Given the description of an element on the screen output the (x, y) to click on. 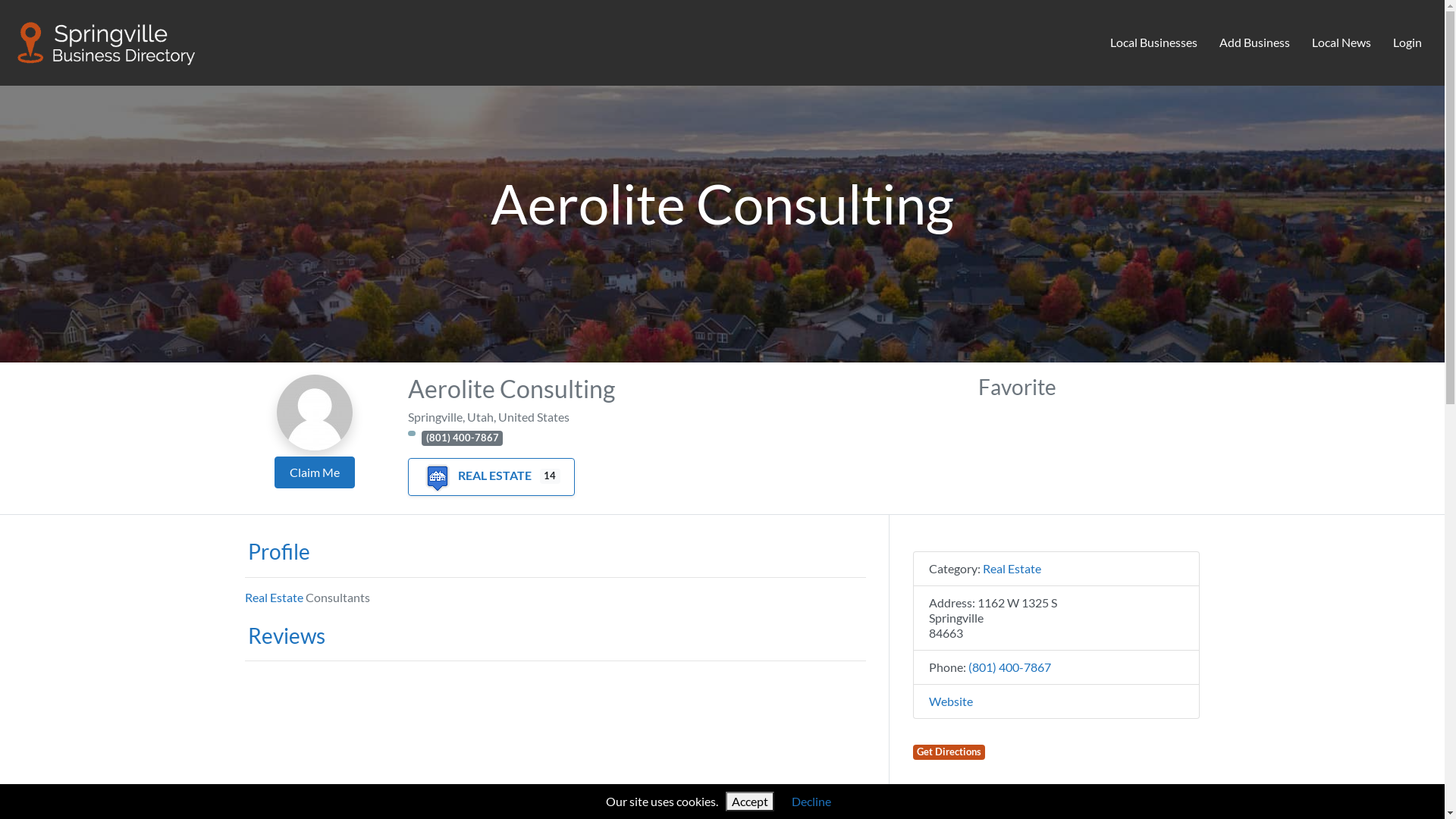
Login Element type: text (1406, 42)
Website Element type: text (950, 700)
Profile Element type: text (276, 551)
Claim Me Element type: text (314, 472)
Add Business Element type: text (1254, 42)
Get Directions Element type: text (949, 751)
REAL ESTATE Element type: text (476, 474)
Decline Element type: text (811, 800)
Springville Business Directory Element type: hover (106, 40)
(801) 400-7867 Element type: text (1008, 666)
Favorite Element type: text (1017, 386)
Accept Element type: text (749, 801)
(801) 400-7867 Element type: text (461, 437)
Real Estate Element type: text (273, 596)
Reviews Element type: text (284, 635)
Local Businesses Element type: text (1153, 42)
Local News Element type: text (1340, 42)
Real Estate Element type: text (1011, 568)
